Given the description of an element on the screen output the (x, y) to click on. 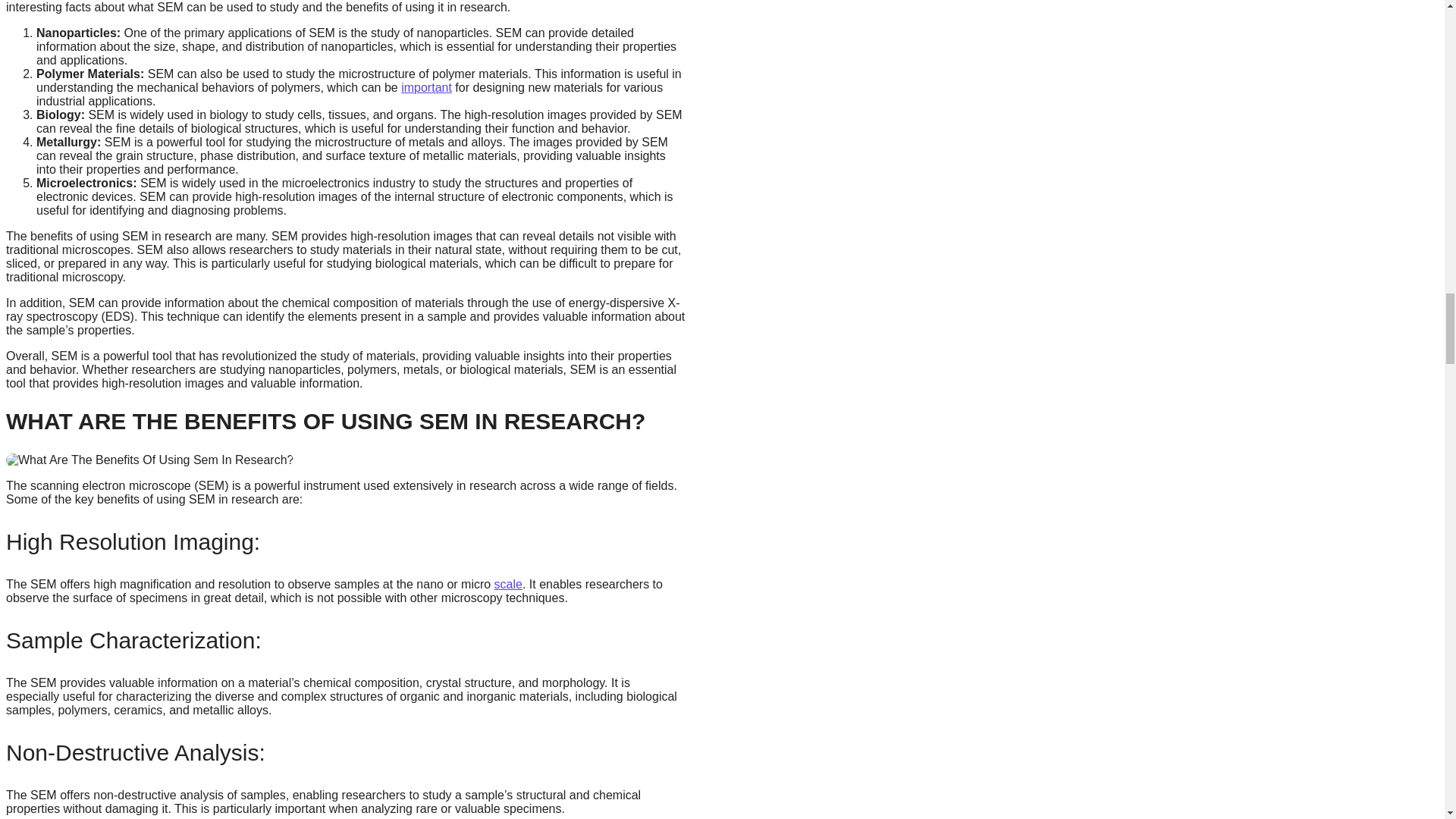
important (426, 87)
scale (508, 584)
